Given the description of an element on the screen output the (x, y) to click on. 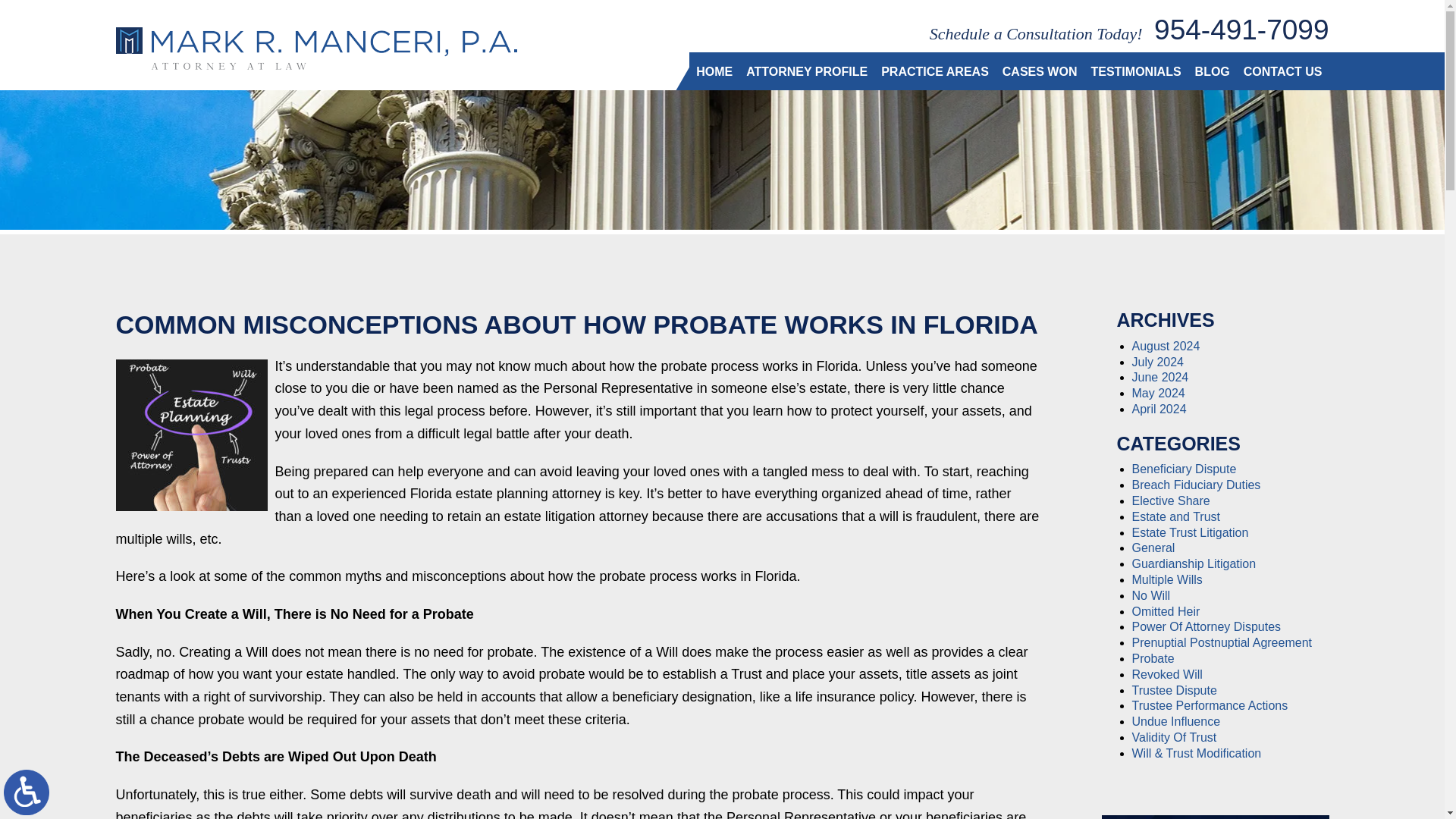
EstatePlan5 (190, 435)
Switch to ADA Accessible Theme (26, 791)
954-491-7099 (1240, 29)
CONTACT US (1282, 71)
August 2024 (1165, 345)
HOME (713, 71)
BLOG (1212, 71)
ATTORNEY PROFILE (807, 71)
July 2024 (1157, 361)
PRACTICE AREAS (935, 71)
